Given the description of an element on the screen output the (x, y) to click on. 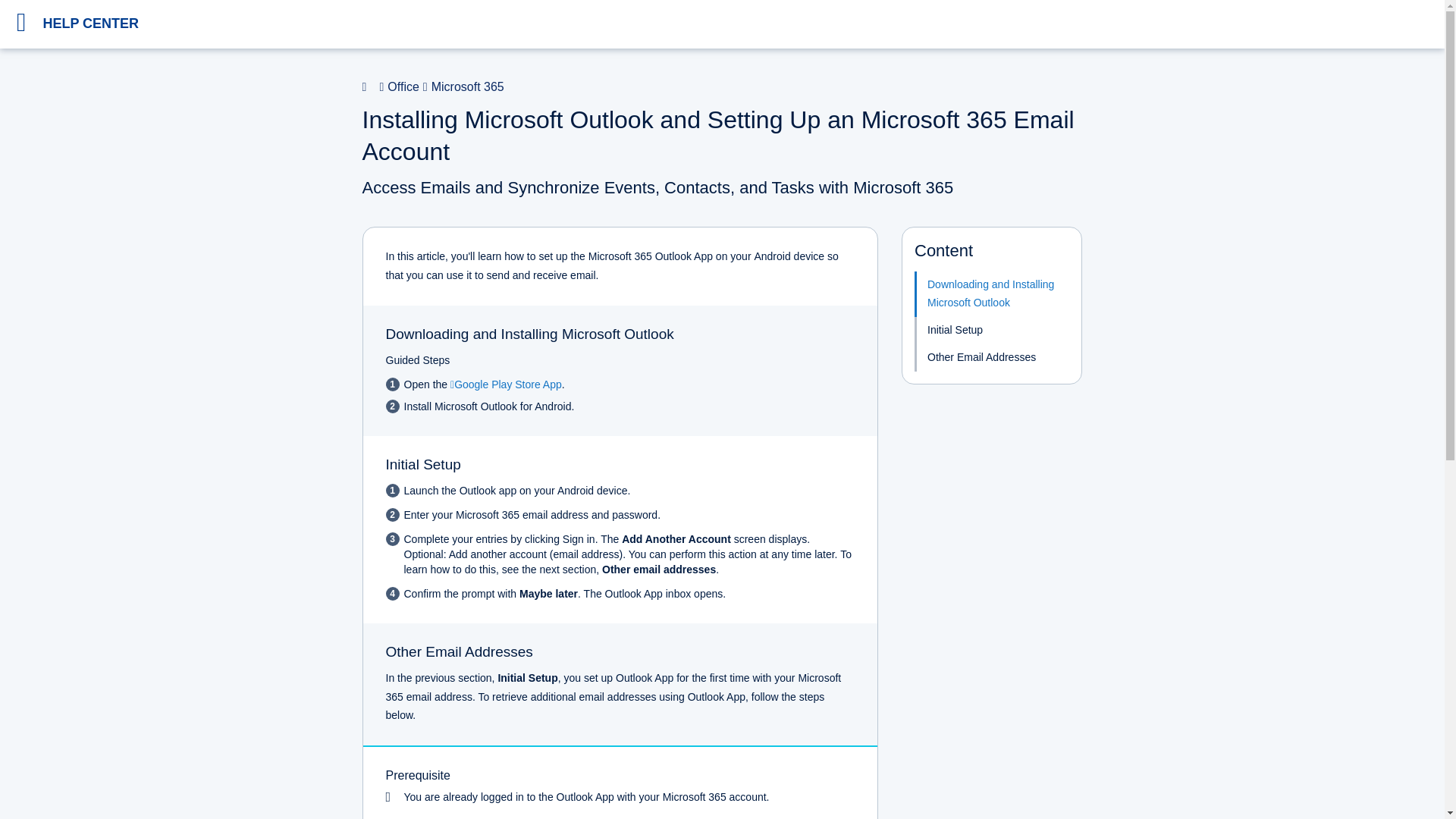
Google Play Store App (505, 384)
Microsoft 365 (461, 86)
Downloading and Installing Microsoft Outlook (991, 293)
Other Email Addresses (991, 357)
Initial Setup (991, 329)
Office (397, 86)
